Given the description of an element on the screen output the (x, y) to click on. 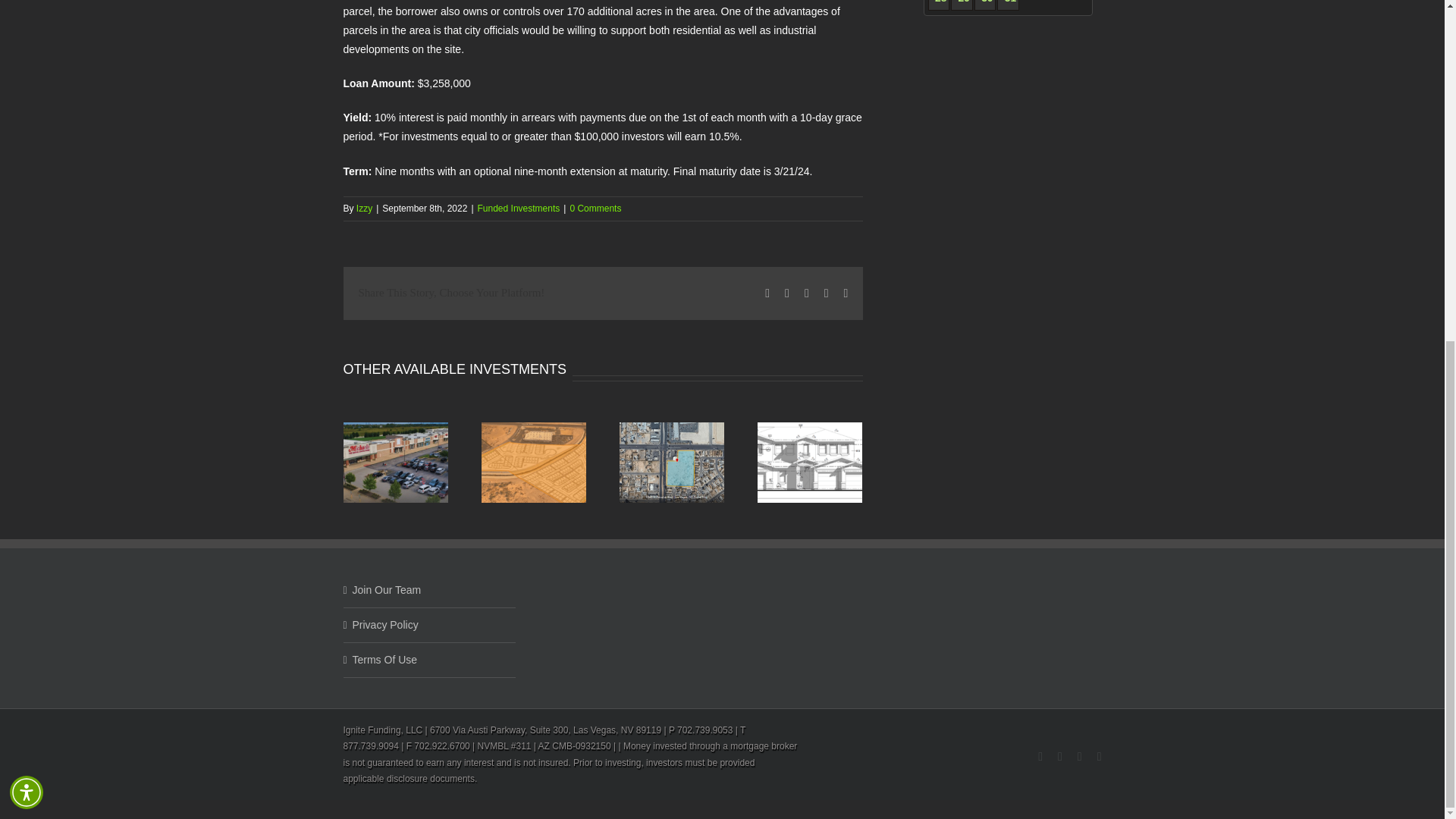
Accessibility Menu (26, 212)
Posts by Izzy (364, 208)
